Given the description of an element on the screen output the (x, y) to click on. 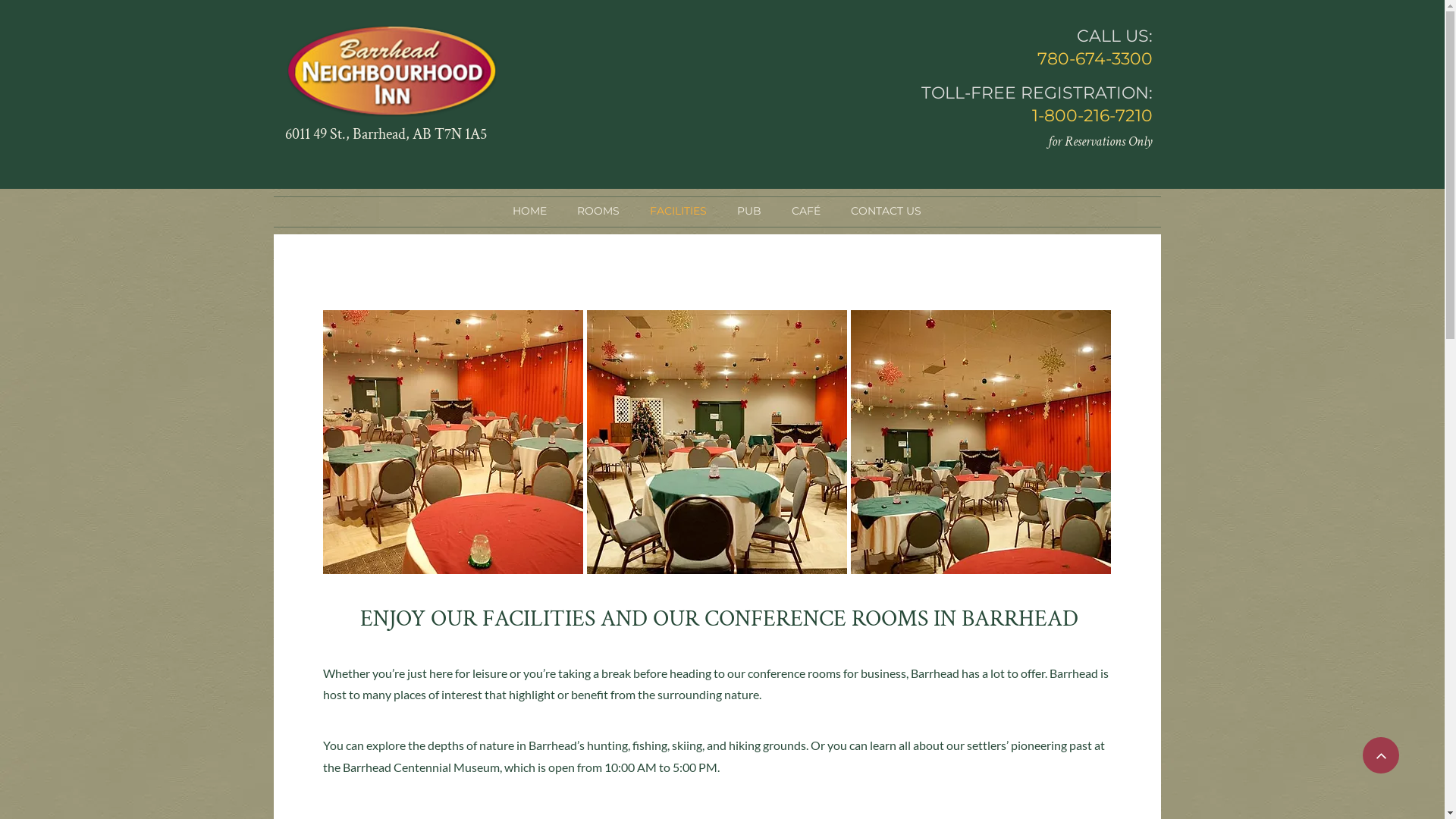
CONTACT US Element type: text (885, 210)
780-674-3300 Element type: text (1094, 58)
HOME Element type: text (529, 210)
1-800-216-7210 Element type: text (1091, 115)
FACILITIES Element type: text (677, 210)
ROOMS Element type: text (597, 210)
PUB Element type: text (748, 210)
